Given the description of an element on the screen output the (x, y) to click on. 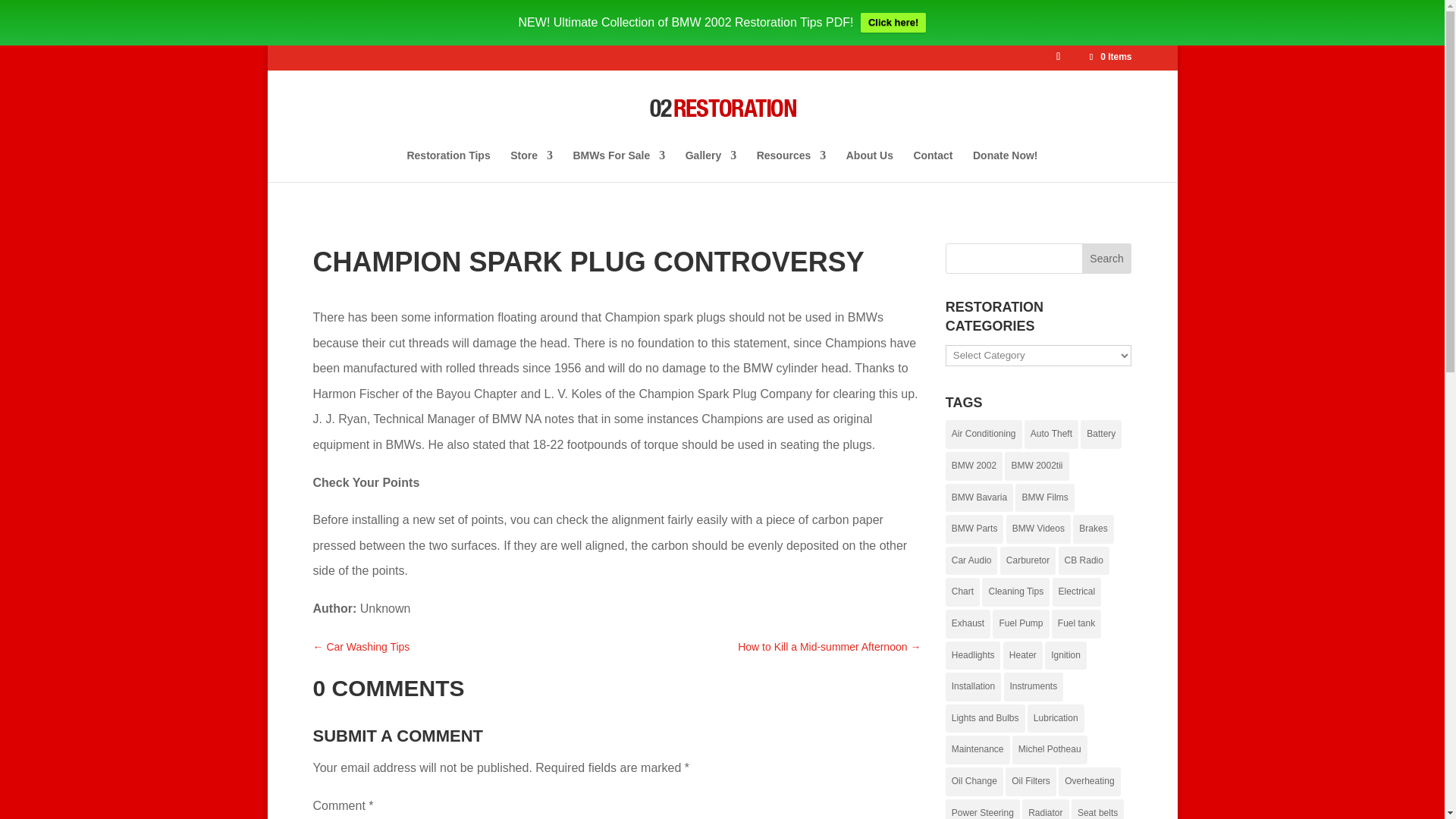
BMWs For Sale (618, 165)
Click here! (893, 22)
Search (1106, 257)
Resources (792, 165)
Have a question? Drop me a note. (932, 165)
0 Items (1108, 56)
Gallery (710, 165)
Store (532, 165)
Restoration Tips (447, 165)
